Given the description of an element on the screen output the (x, y) to click on. 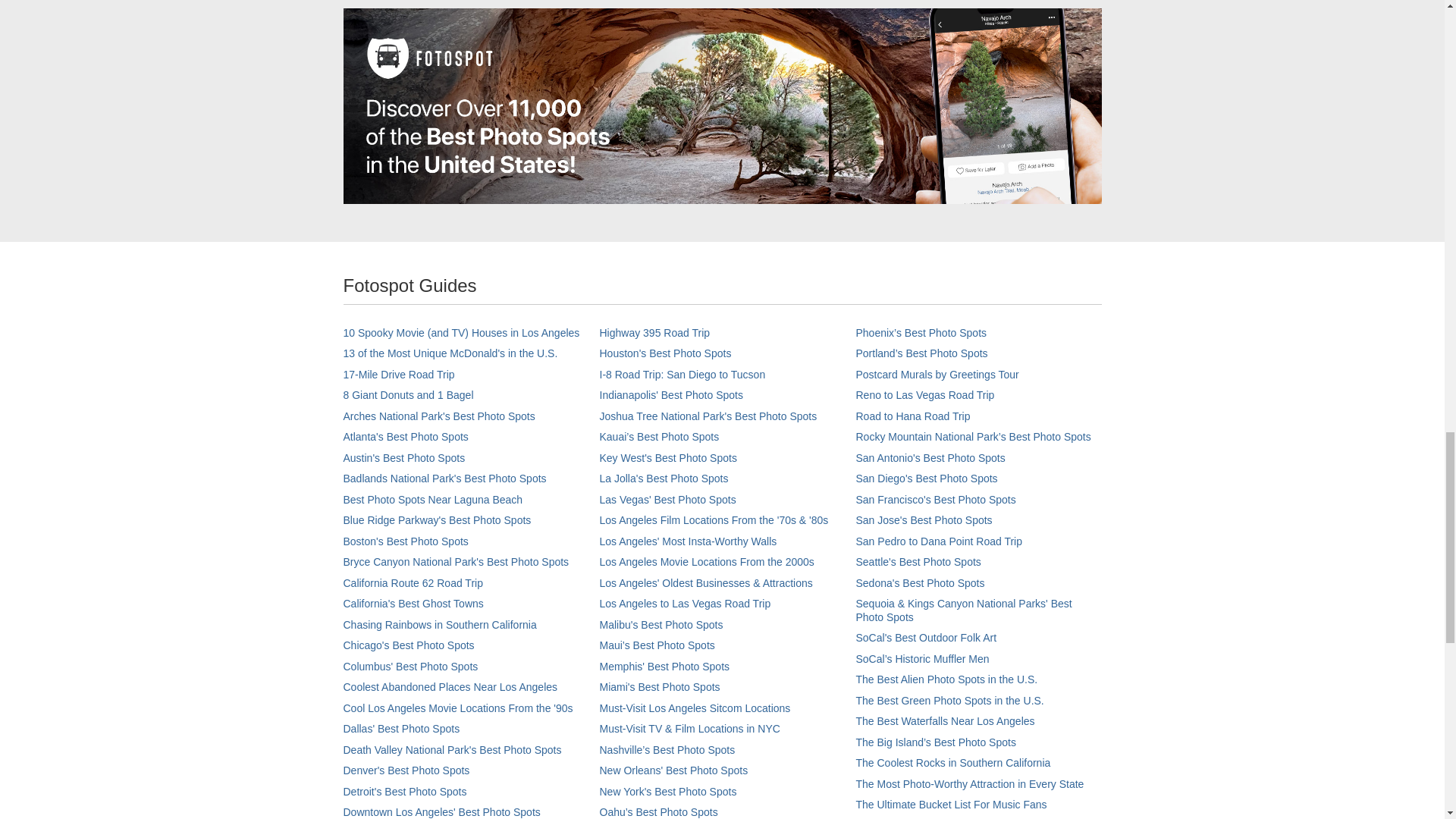
Boston's Best Photo Spots (404, 541)
8 Giant Donuts and 1 Bagel (407, 395)
Arches National Park's Best Photo Spots (438, 416)
Bryce Canyon National Park's Best Photo Spots (455, 562)
Chicago's Best Photo Spots (408, 645)
Best Photo Spots Near Laguna Beach (432, 499)
Chasing Rainbows in Southern California (438, 624)
17-Mile Drive Road Trip (398, 374)
California's Best Ghost Towns (412, 603)
Columbus' Best Photo Spots (409, 666)
